Given the description of an element on the screen output the (x, y) to click on. 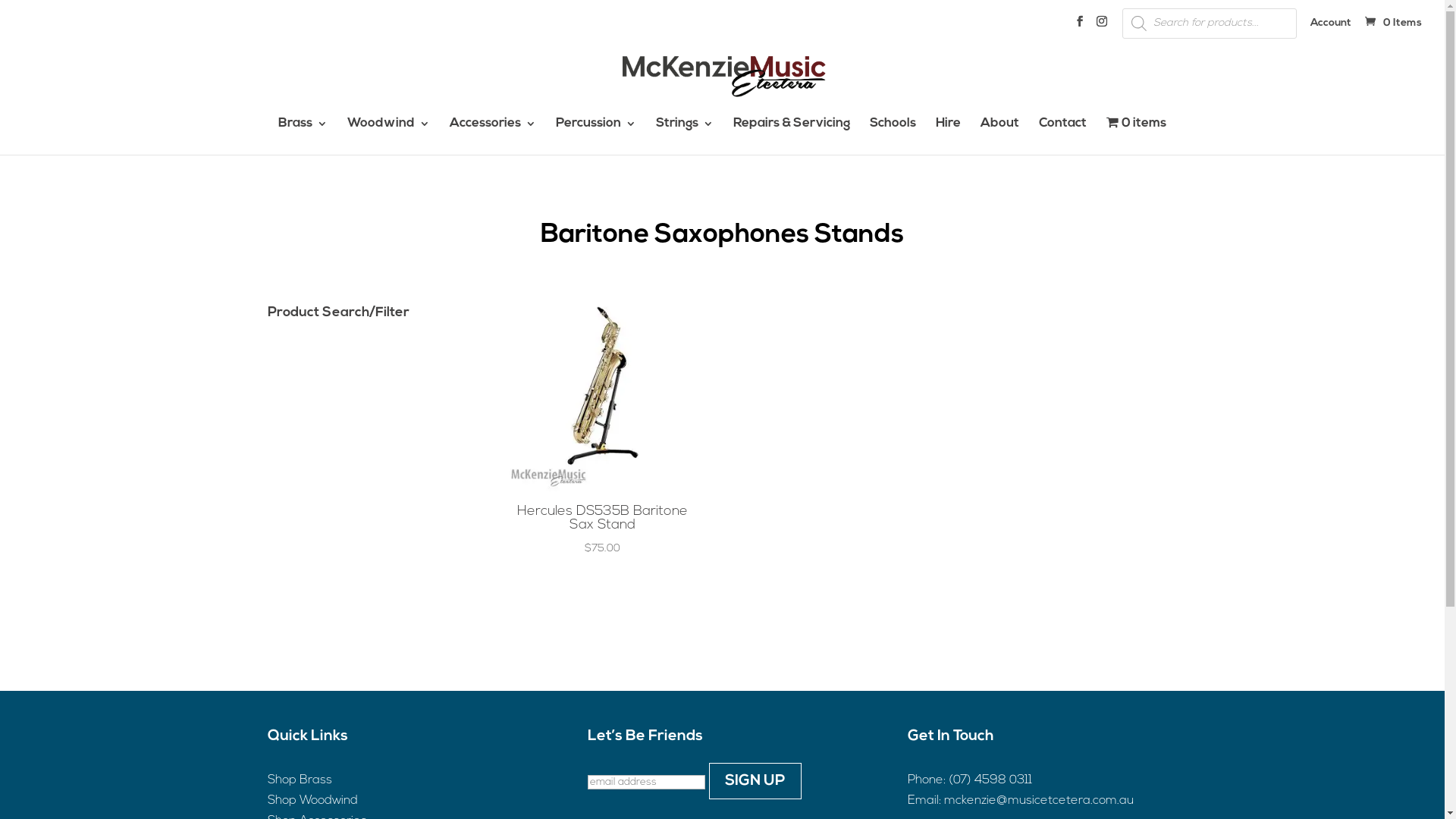
Schools Element type: text (892, 136)
Repairs & Servicing Element type: text (791, 136)
0 items Element type: text (1136, 134)
About Element type: text (999, 136)
mckenzie@musicetcetera.com.au Element type: text (1037, 800)
Shop Brass Element type: text (298, 780)
Strings Element type: text (684, 136)
Hercules DS535B Baritone Sax Stand
$75.00 Element type: text (601, 429)
SIGN UP Element type: text (754, 780)
Shop Woodwind Element type: text (311, 800)
0 Items Element type: text (1391, 22)
Percussion Element type: text (595, 136)
Accessories Element type: text (492, 136)
Brass Element type: text (302, 136)
Hire Element type: text (947, 136)
(07) 4598 0311 Element type: text (989, 780)
Account Element type: text (1330, 27)
Contact Element type: text (1062, 136)
Woodwind Element type: text (388, 136)
